Given the description of an element on the screen output the (x, y) to click on. 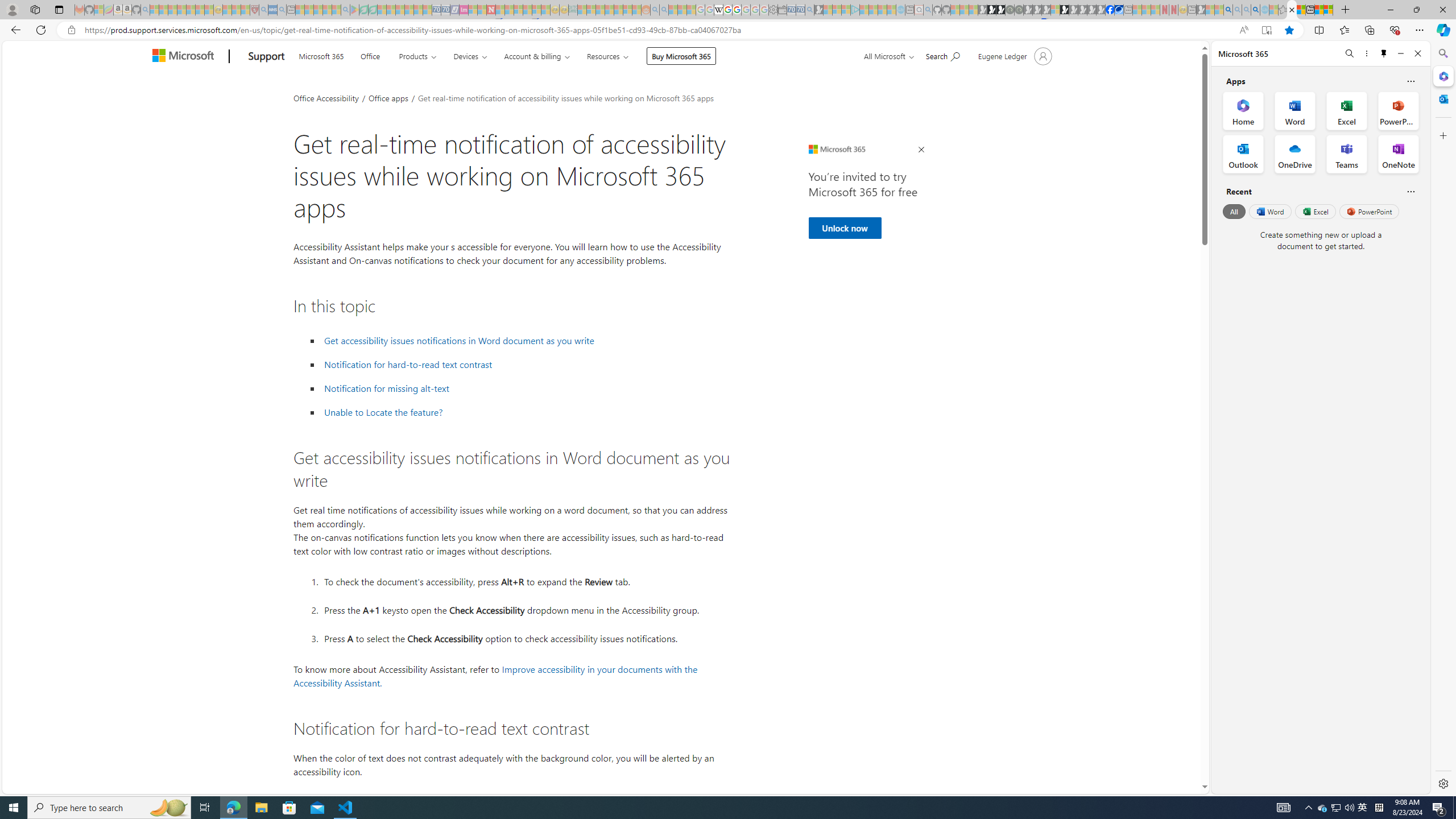
Bluey: Let's Play! - Apps on Google Play - Sleeping (354, 9)
Notification for missing alt-text (525, 388)
Future Focus Report 2024 - Sleeping (1018, 9)
Aberdeen, Hong Kong SAR weather forecast | Microsoft Weather (1300, 9)
PowerPoint Office App (1398, 110)
google - Search - Sleeping (345, 9)
